Given the description of an element on the screen output the (x, y) to click on. 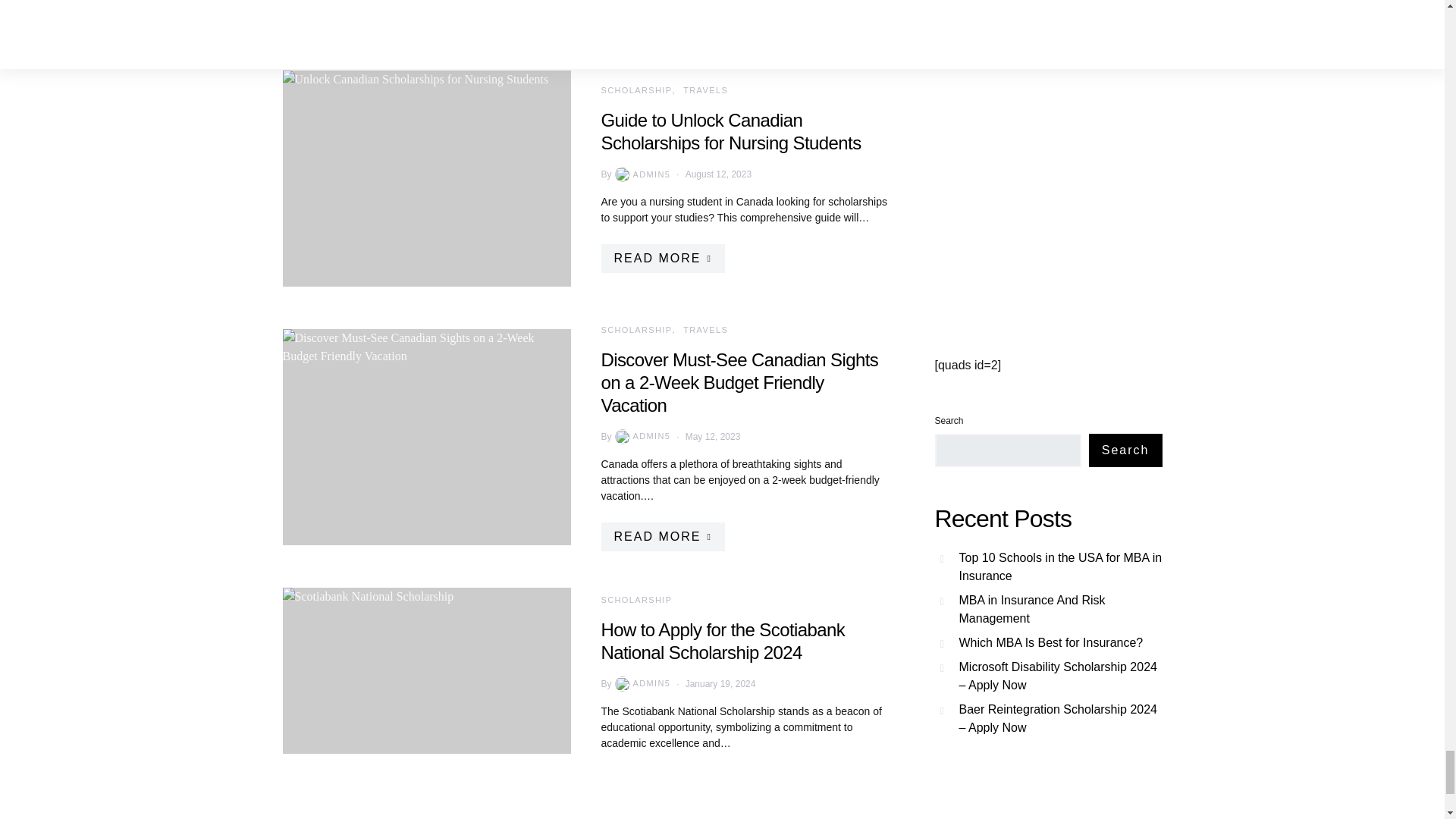
View all posts by Admin5 (641, 436)
View all posts by Admin5 (641, 683)
View all posts by Admin5 (641, 174)
